Given the description of an element on the screen output the (x, y) to click on. 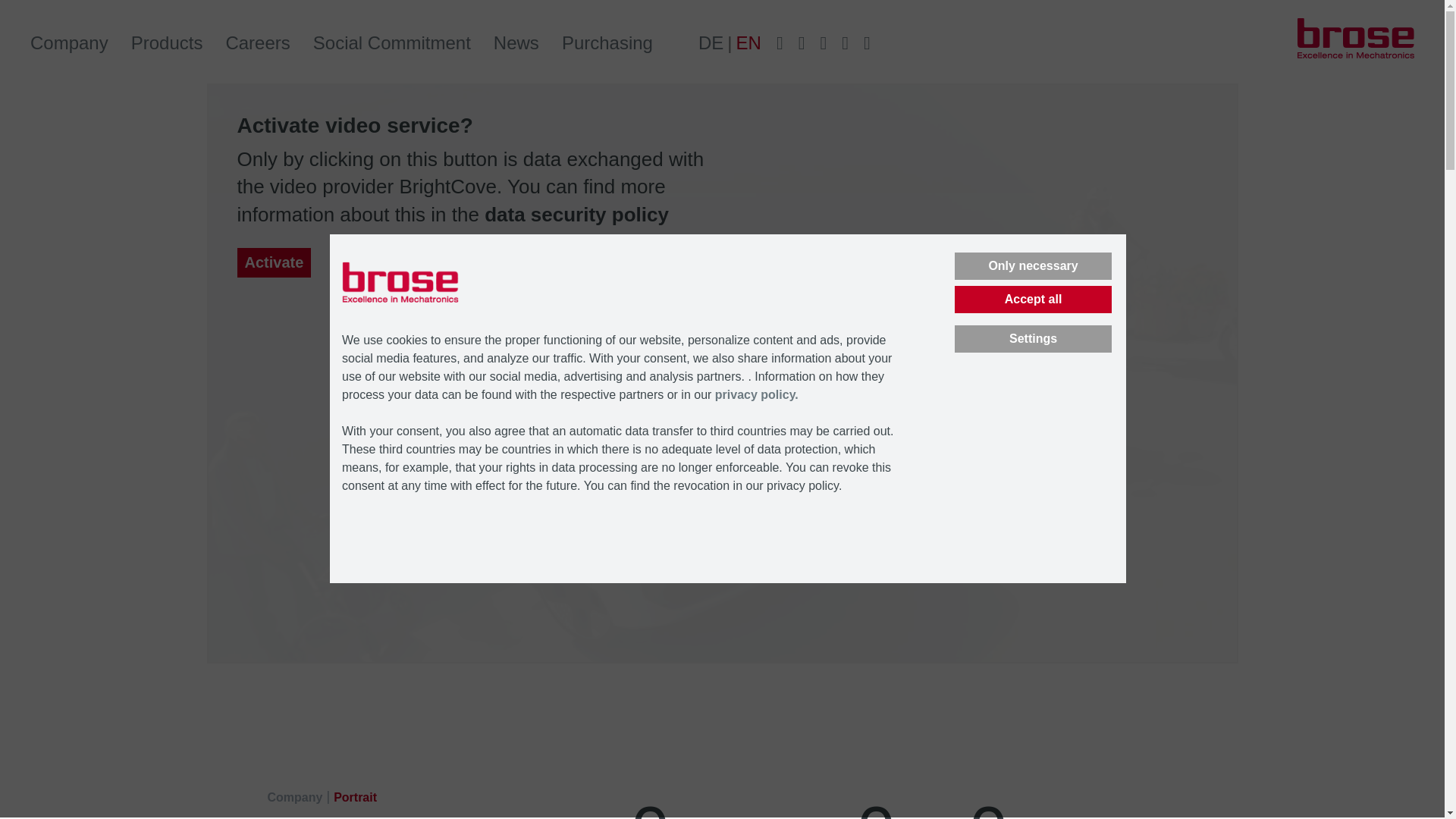
Settings (1033, 338)
Careers (257, 43)
Company (68, 43)
Accept all (1033, 298)
Only necessary (1033, 266)
Products (167, 43)
